Given the description of an element on the screen output the (x, y) to click on. 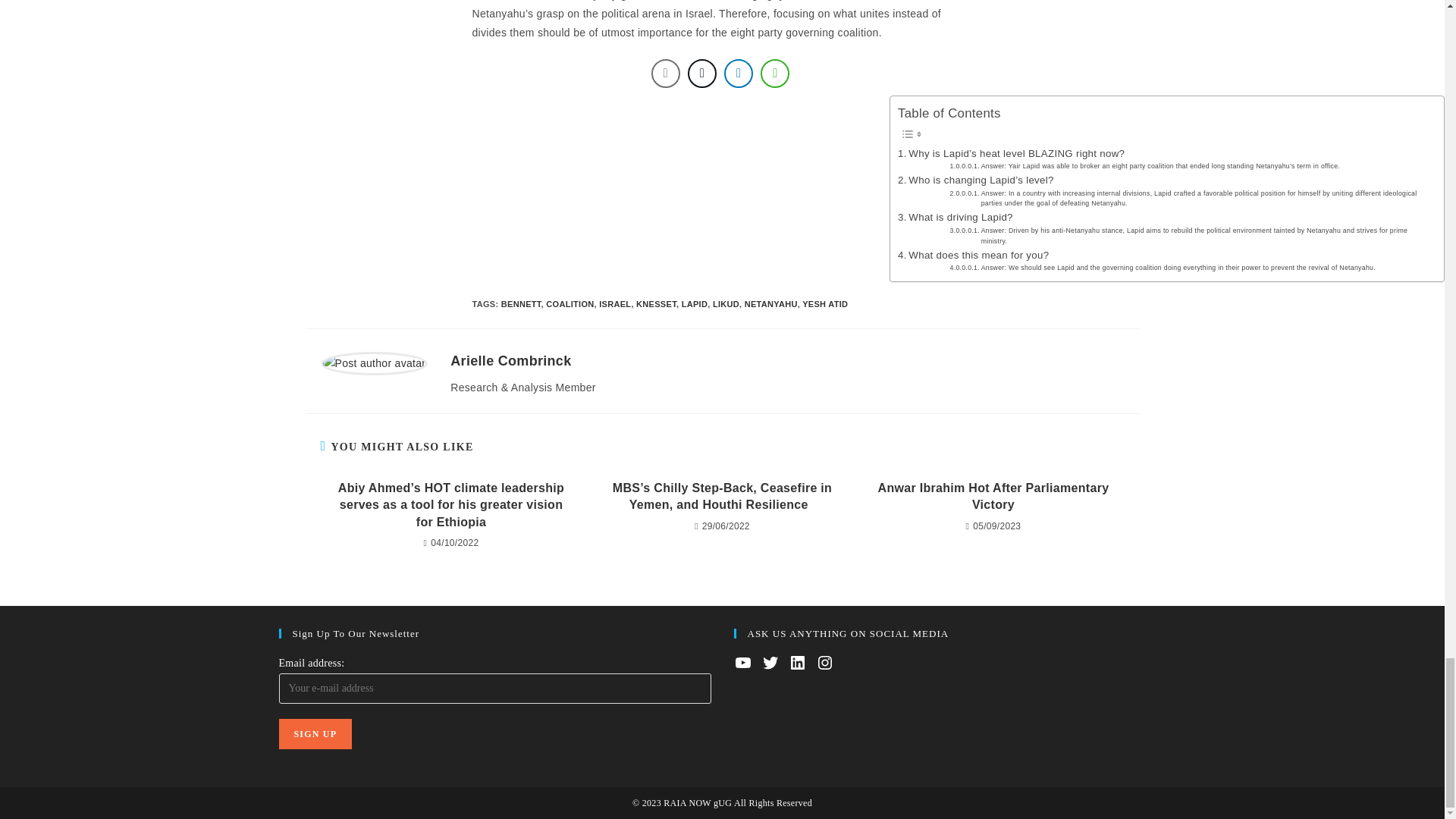
Visit author page (374, 362)
What is driving Lapid? (955, 217)
What does this mean for you? (973, 254)
Sign up (315, 734)
Visit author page (509, 360)
